Given the description of an element on the screen output the (x, y) to click on. 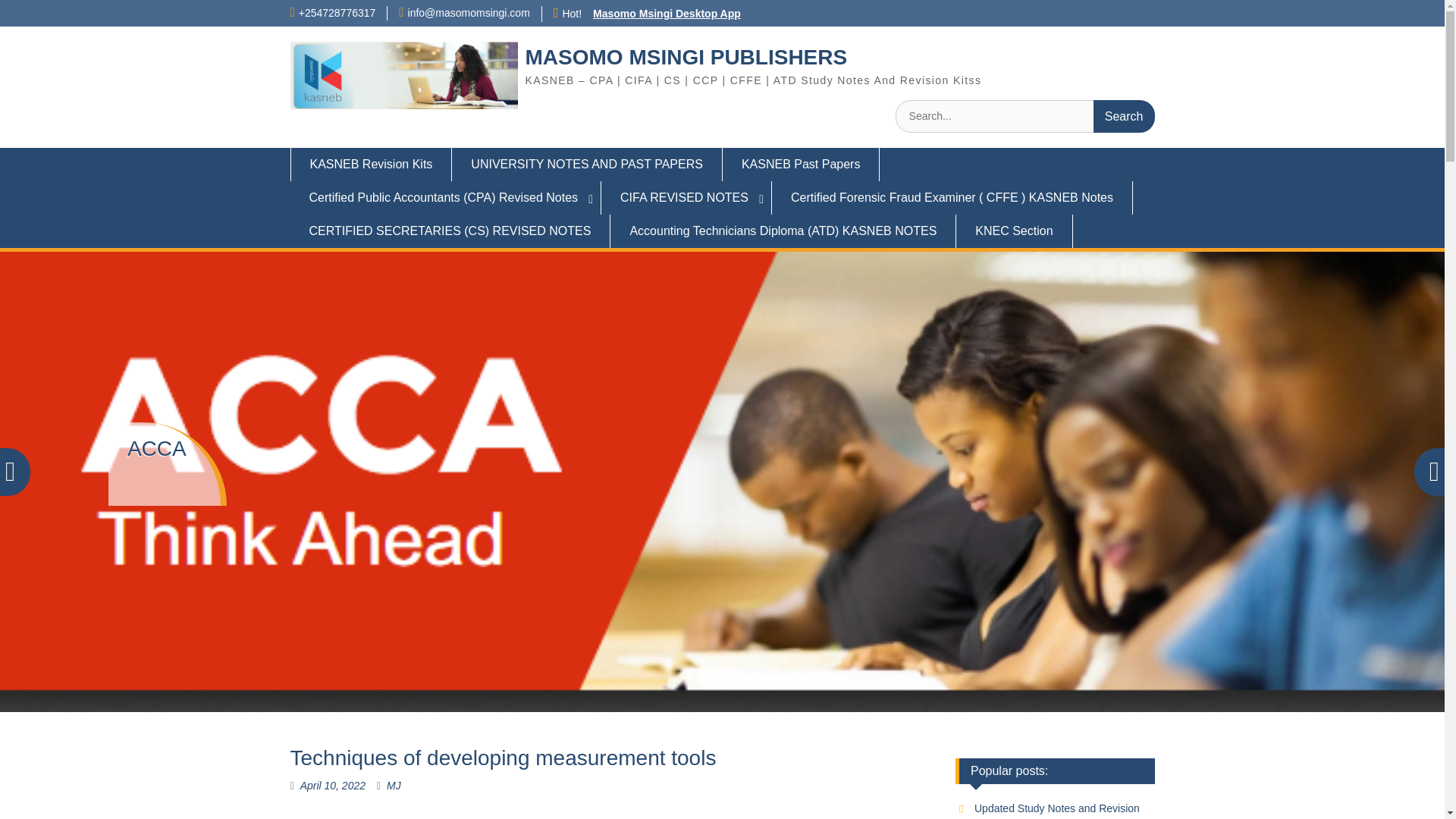
Search (1123, 115)
CIFA REVISED NOTES (686, 197)
April 10, 2022 (332, 785)
KNEC Section (1013, 231)
MASOMO MSINGI PUBLISHERS (685, 56)
ACCA (157, 448)
UNIVERSITY NOTES AND PAST PAPERS (586, 164)
KASNEB Revision Kits (370, 164)
Search for: (1024, 115)
Search (1123, 115)
KASNEB Past Papers (801, 164)
Masomo Msingi Desktop App (666, 13)
Search (1123, 115)
MJ (394, 785)
